Given the description of an element on the screen output the (x, y) to click on. 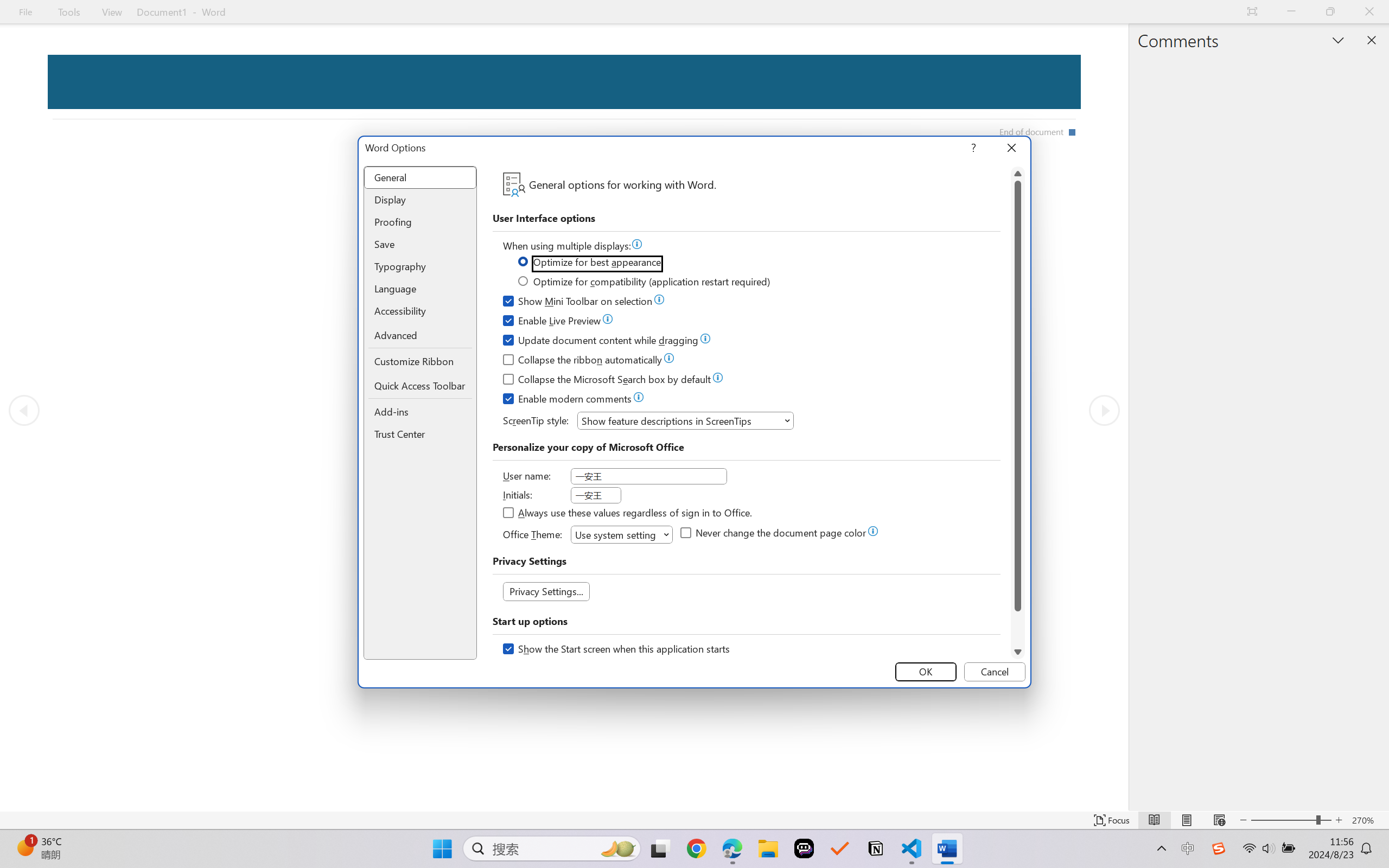
General (419, 177)
Optimize for best appearance (590, 263)
Enable Live Preview (552, 322)
User name (648, 476)
Proofing (419, 221)
